Given the description of an element on the screen output the (x, y) to click on. 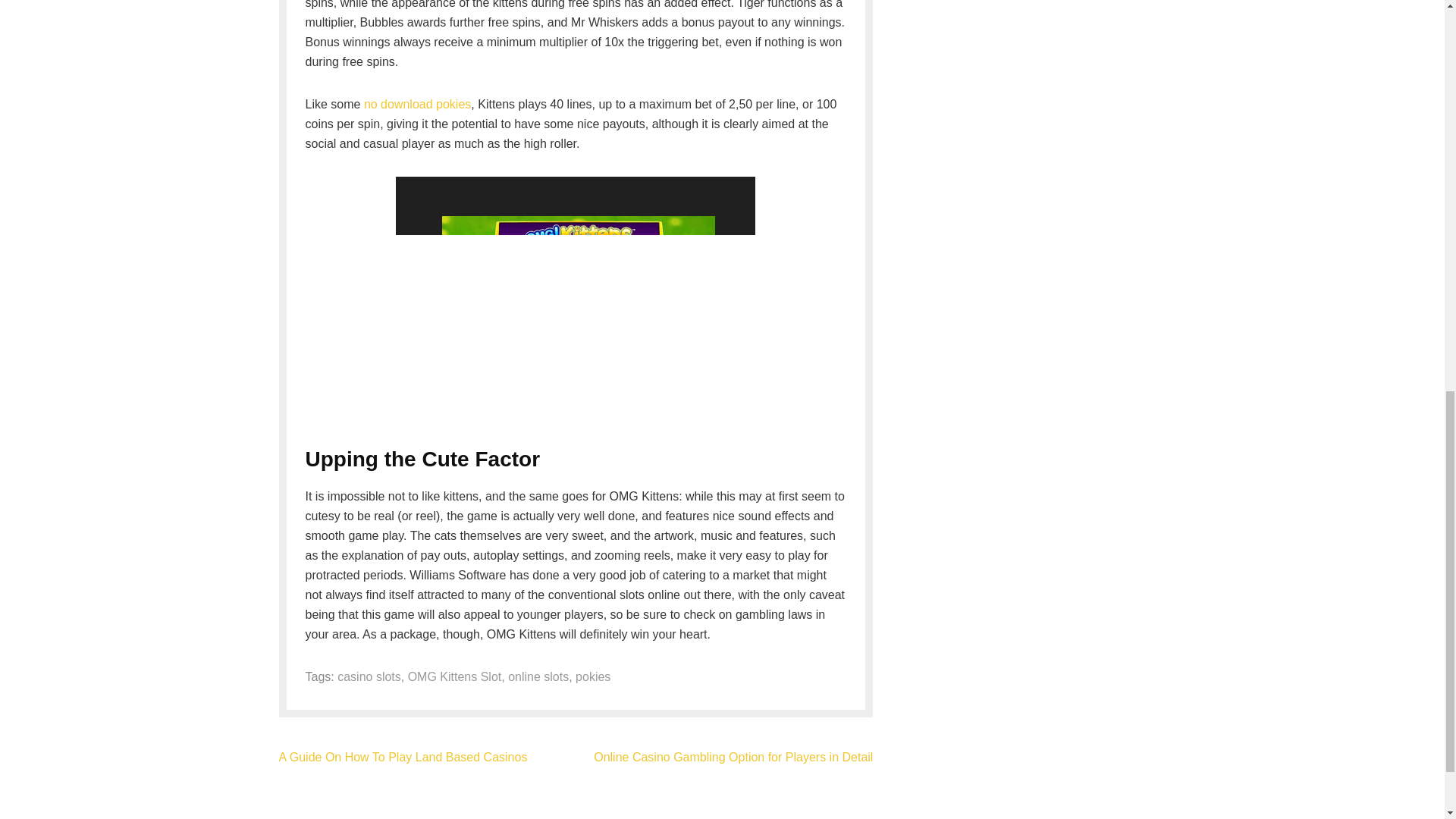
A Guide On How To Play Land Based Casinos (403, 757)
no download pokies (417, 103)
online slots (538, 676)
casino slots (369, 676)
Online Casino Gambling Option for Players in Detail (733, 757)
OMG Kittens Slot (454, 676)
pokies (592, 676)
